Given the description of an element on the screen output the (x, y) to click on. 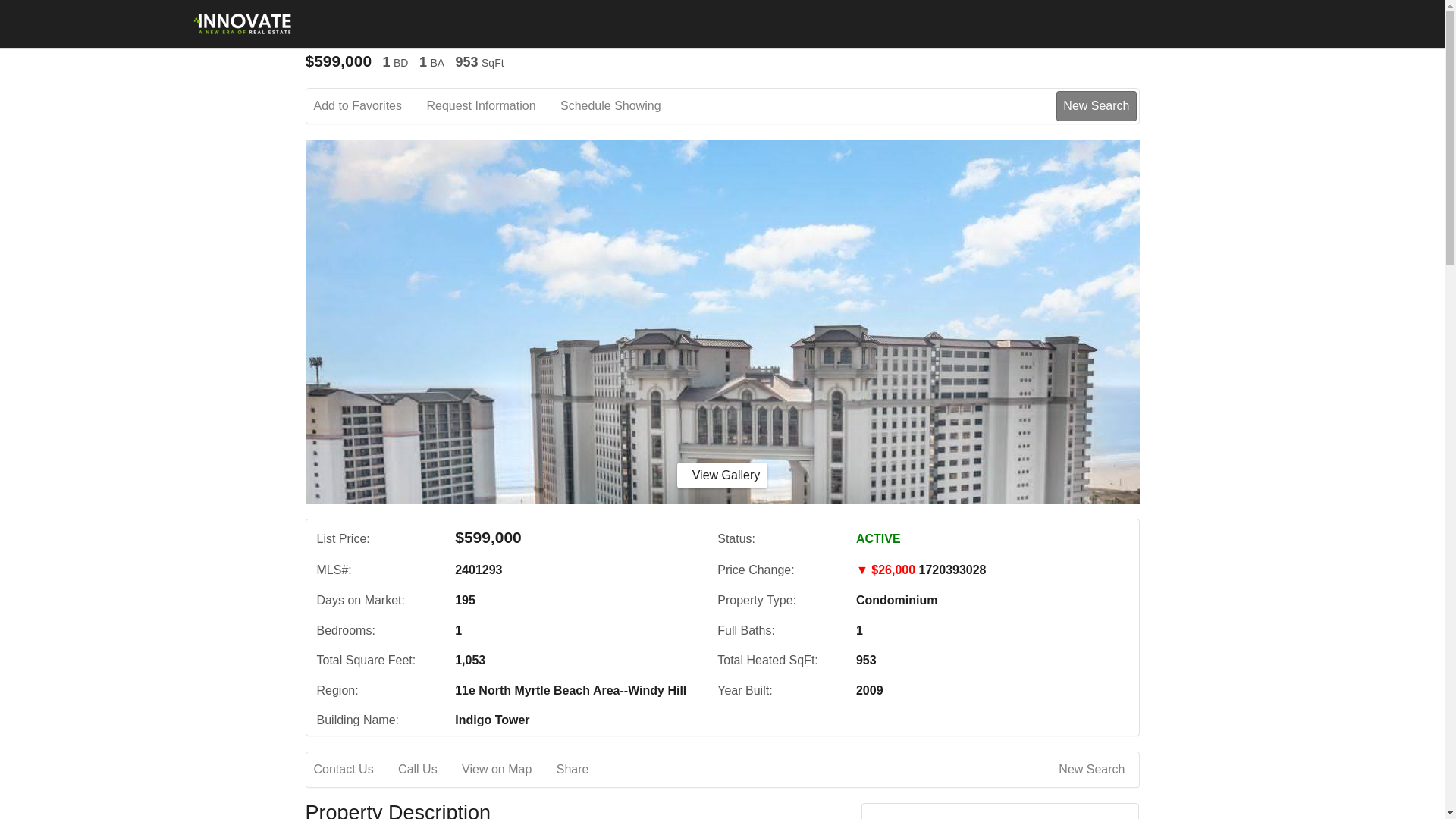
View Gallery (722, 474)
Add to Favorites (368, 106)
Share (583, 769)
View Gallery (722, 475)
Schedule Showing (621, 106)
Contact Us (354, 769)
View on Map (507, 769)
Call Us (427, 769)
New Search (1094, 769)
New Search (1096, 105)
Request Information (491, 106)
